Given the description of an element on the screen output the (x, y) to click on. 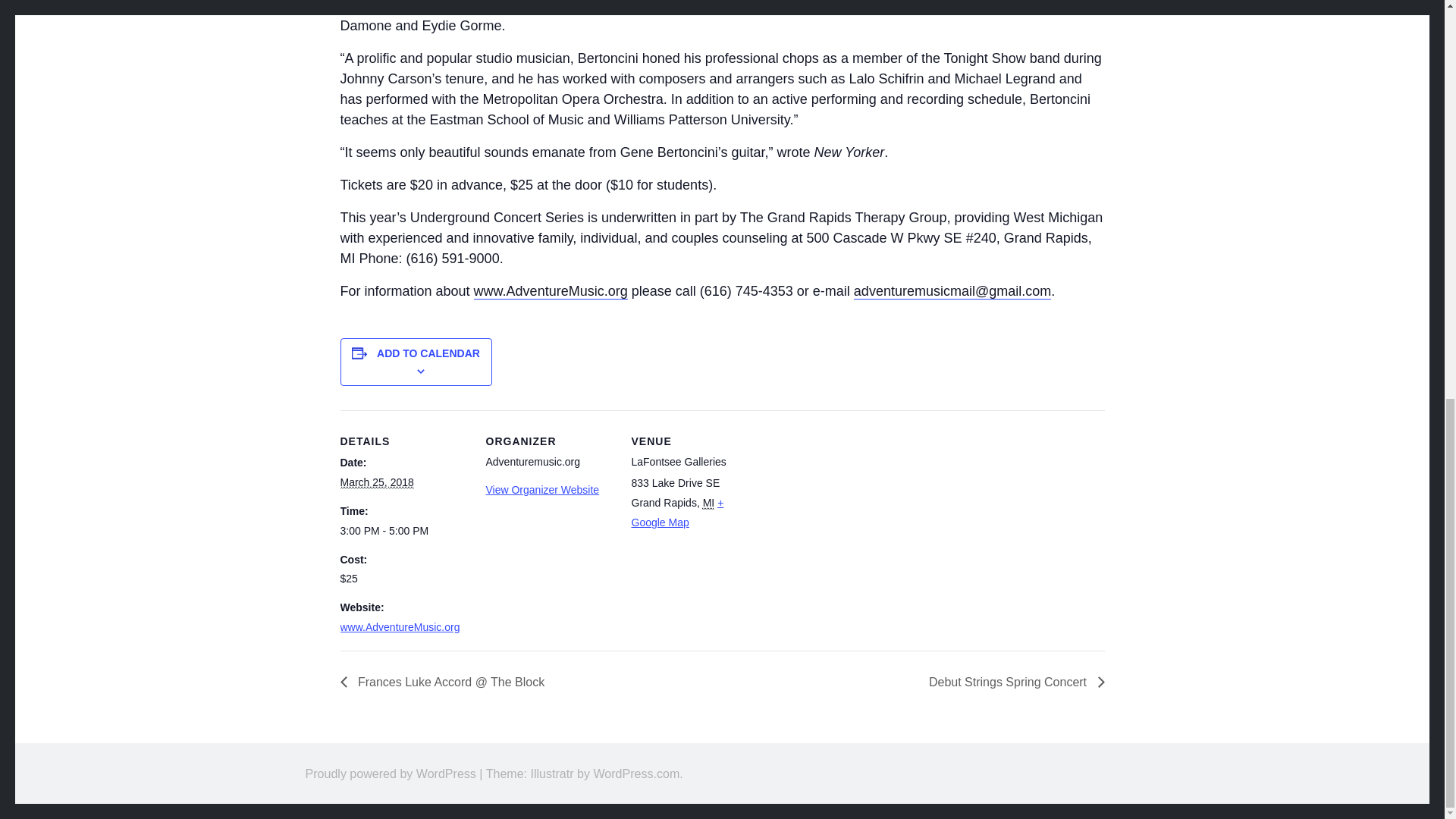
Debut Strings Spring Concert (1012, 681)
Click to view a Google Map (676, 512)
View Organizer Website (541, 490)
ADD TO CALENDAR (428, 353)
Michigan (708, 502)
WordPress.com (635, 773)
www.AdventureMusic.org (399, 626)
www.AdventureMusic.org (550, 291)
2018-03-25 (403, 530)
Proudly powered by WordPress (390, 773)
